Given the description of an element on the screen output the (x, y) to click on. 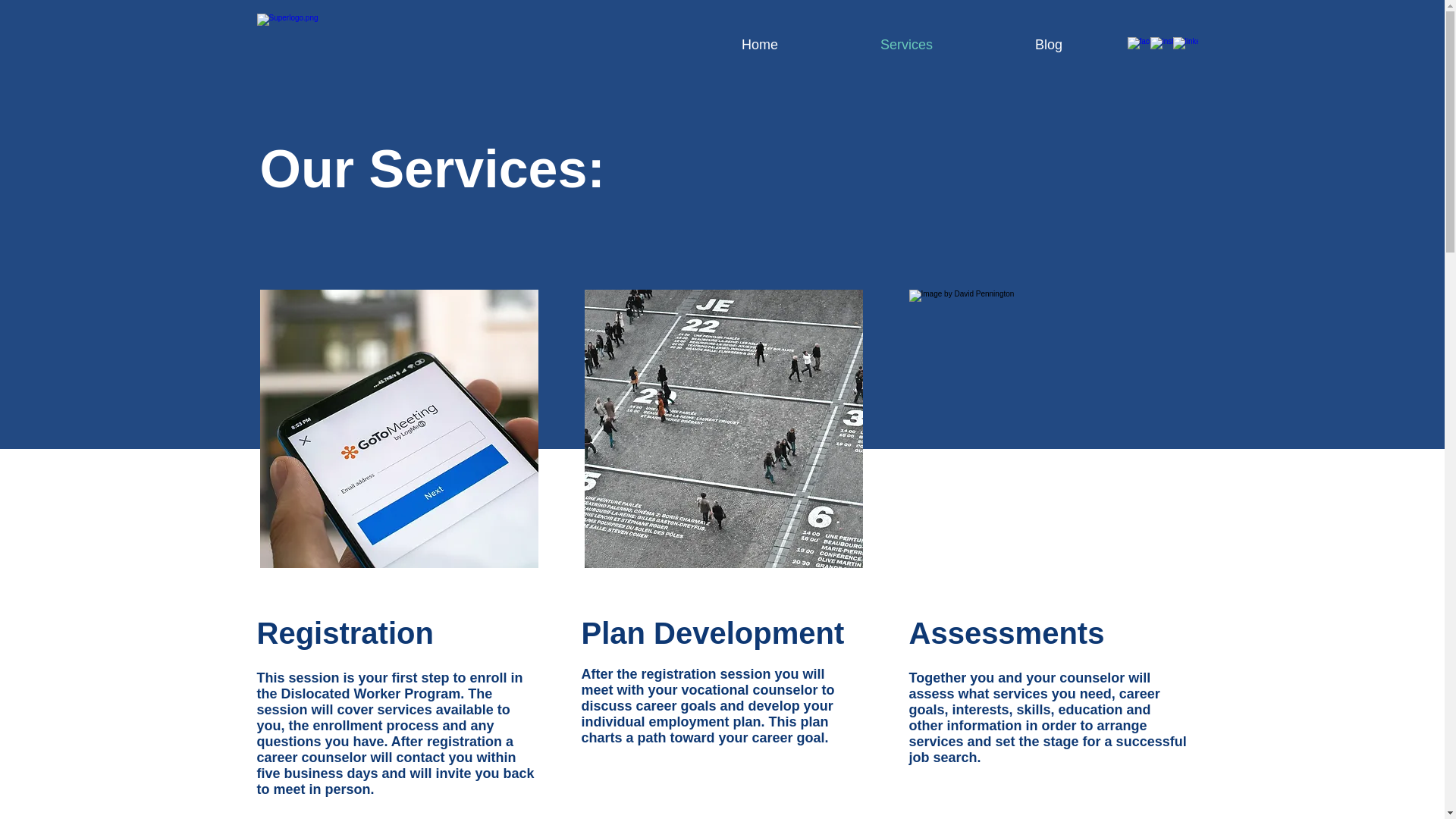
Services (906, 44)
Blog (1048, 44)
Home (759, 44)
